Given the description of an element on the screen output the (x, y) to click on. 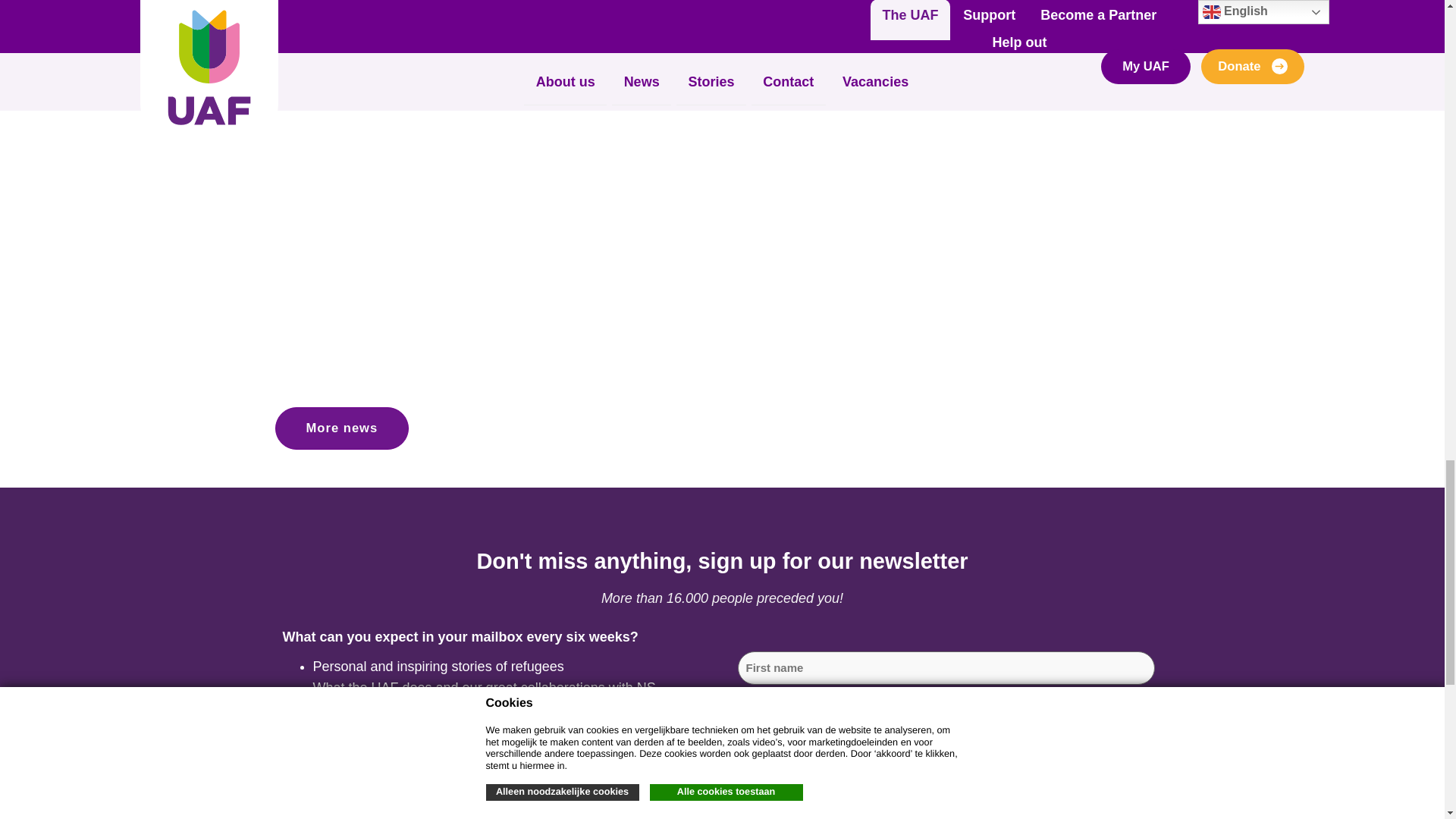
Register me! (833, 761)
